Given the description of an element on the screen output the (x, y) to click on. 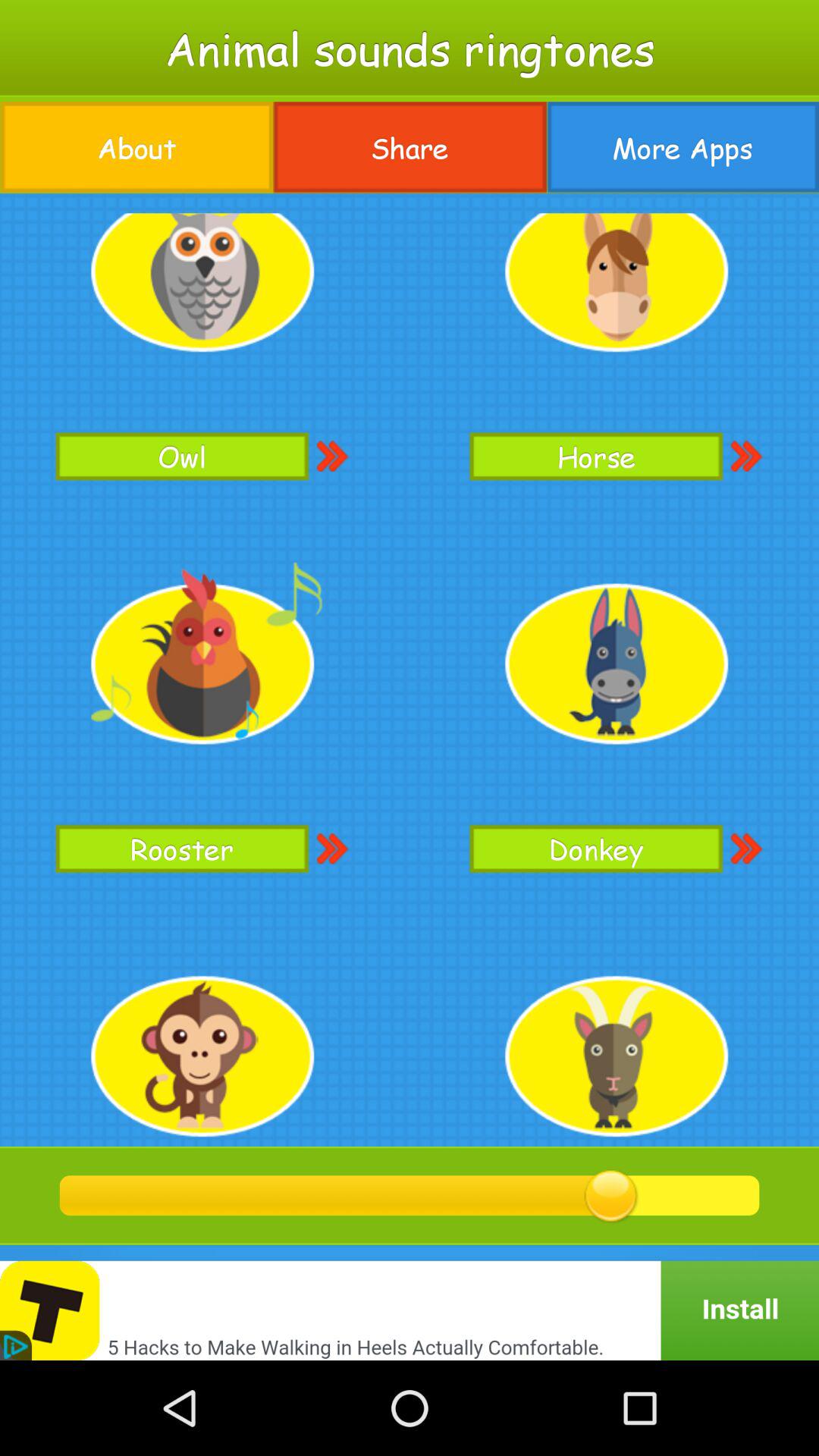
turn on the icon next to the share (682, 147)
